Given the description of an element on the screen output the (x, y) to click on. 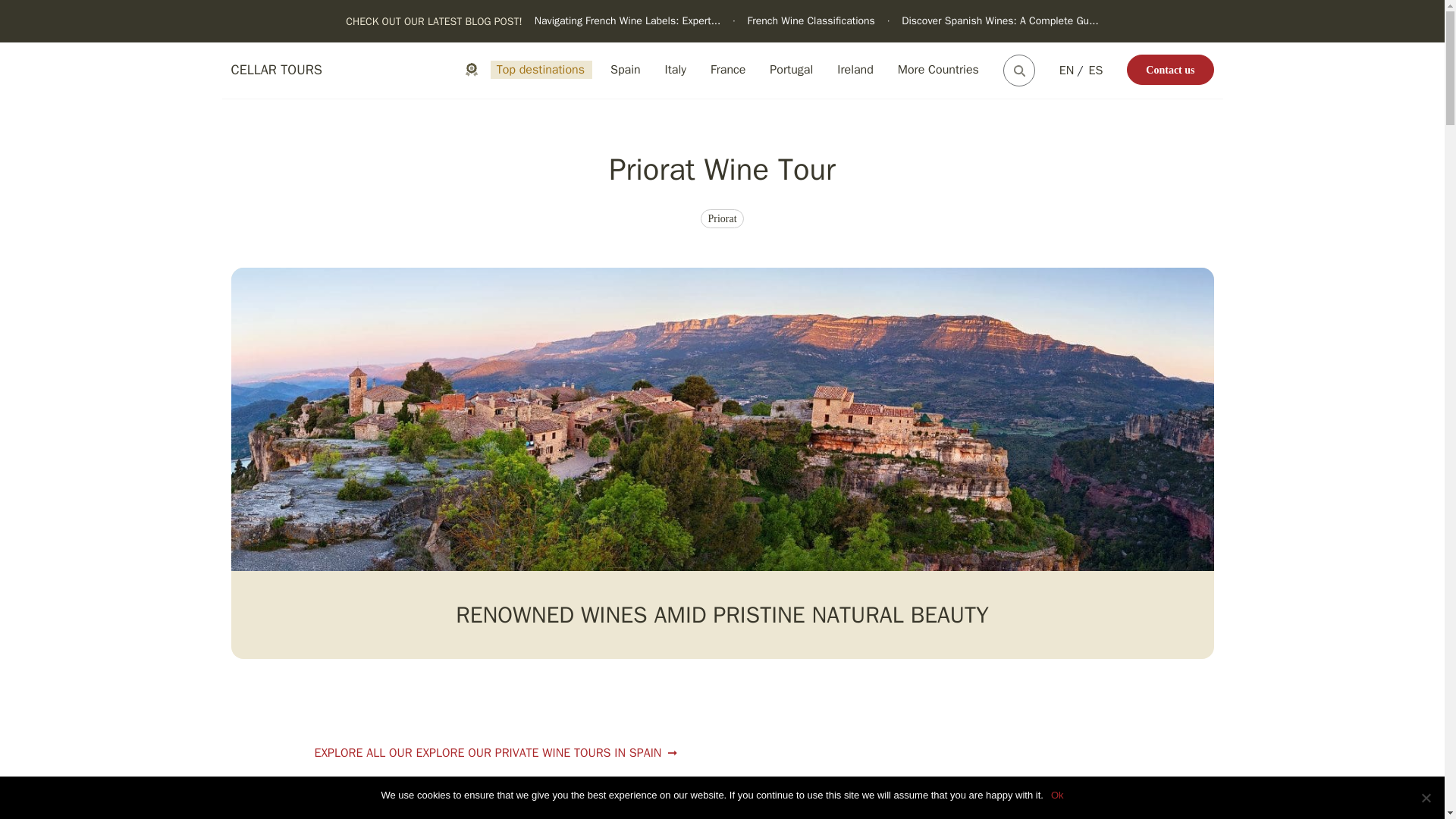
CHECK OUT OUR LATEST BLOG POST! (433, 21)
CELLAR TOURS (275, 69)
Portugal (790, 70)
Italy (676, 70)
France (727, 70)
Discover Spanish Wines: A Complete Gu... (999, 20)
Navigating French Wine Labels: Expert... (627, 21)
Ireland (855, 70)
Top destinations (541, 70)
Spain (625, 70)
French Wine Classifications (811, 20)
